Given the description of an element on the screen output the (x, y) to click on. 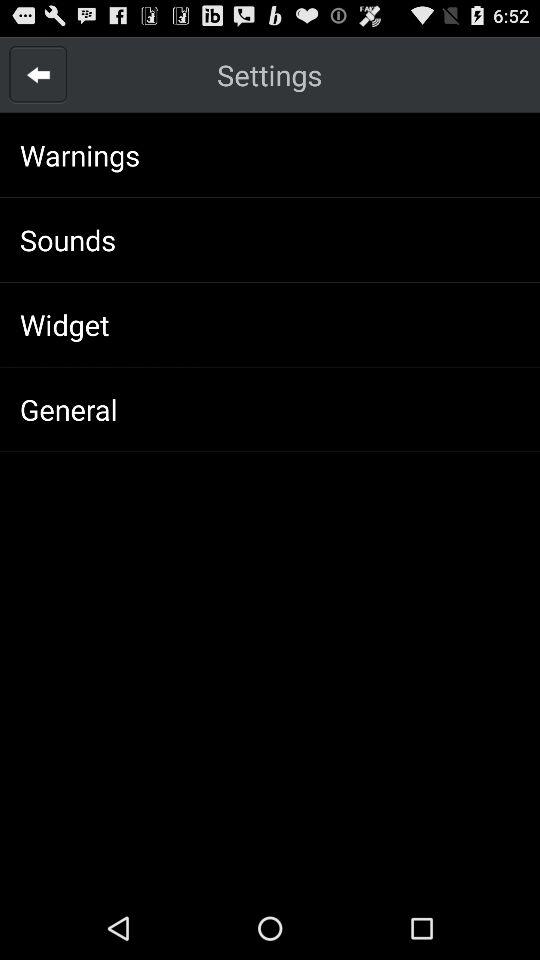
launch sounds icon (67, 239)
